Given the description of an element on the screen output the (x, y) to click on. 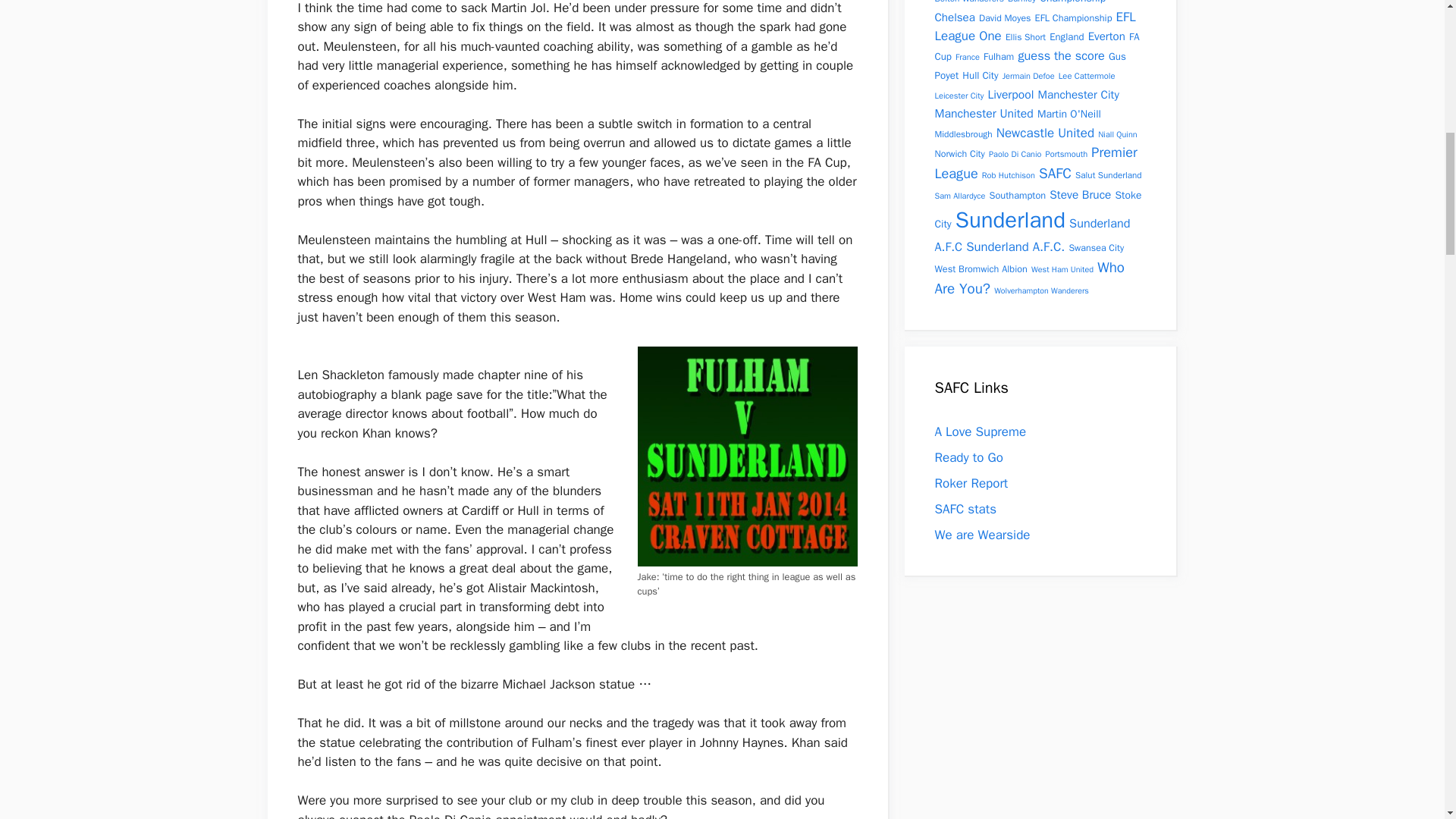
England (1066, 36)
Burnley (1021, 2)
EFL Championship (1073, 18)
Chelsea (954, 16)
Ellis Short (1025, 37)
FA Cup (1036, 46)
Bolton Wanderers (968, 2)
David Moyes (1004, 18)
EFL League One (1034, 27)
Everton (1106, 35)
